Given the description of an element on the screen output the (x, y) to click on. 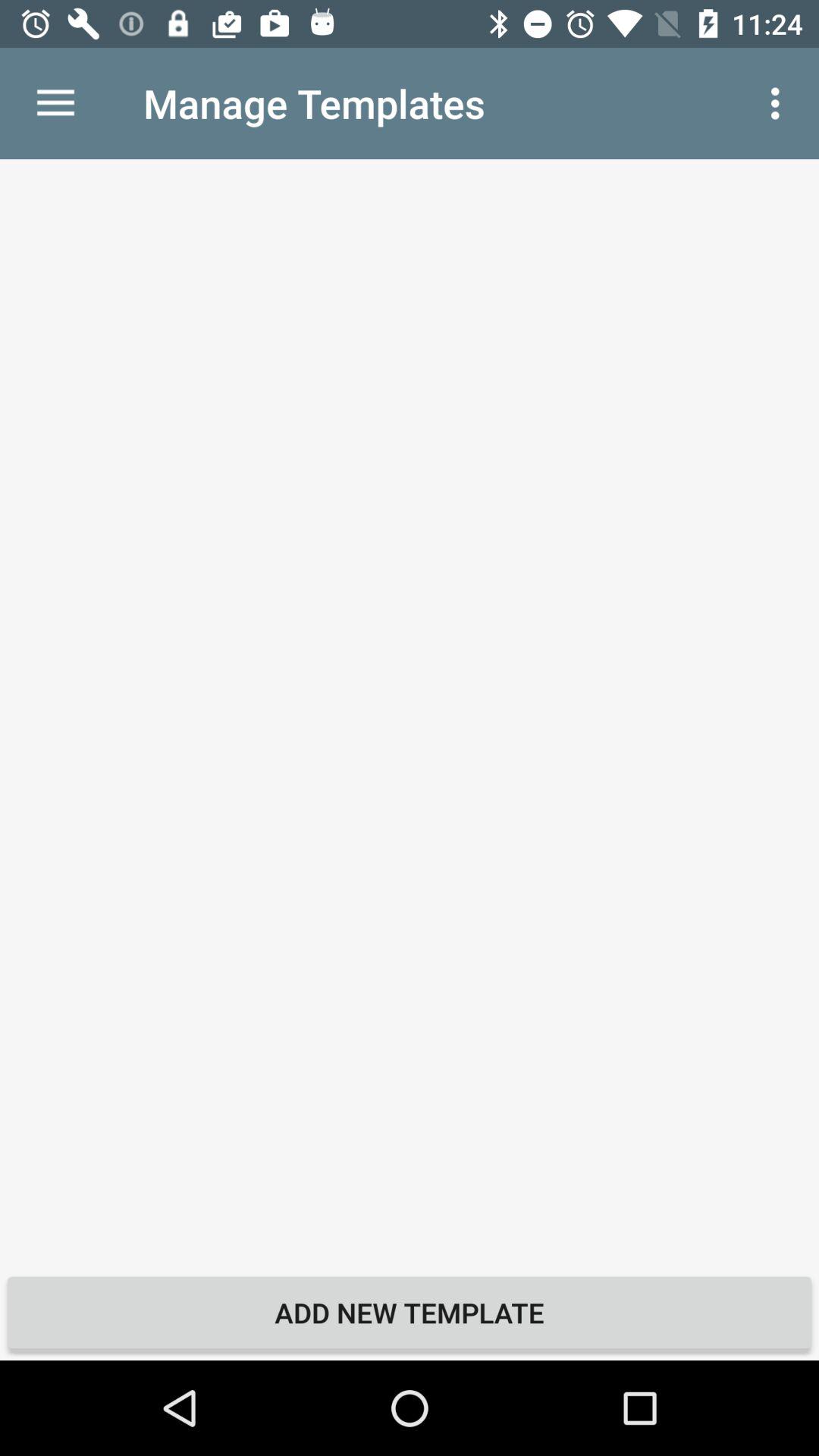
turn on item at the center (409, 711)
